Given the description of an element on the screen output the (x, y) to click on. 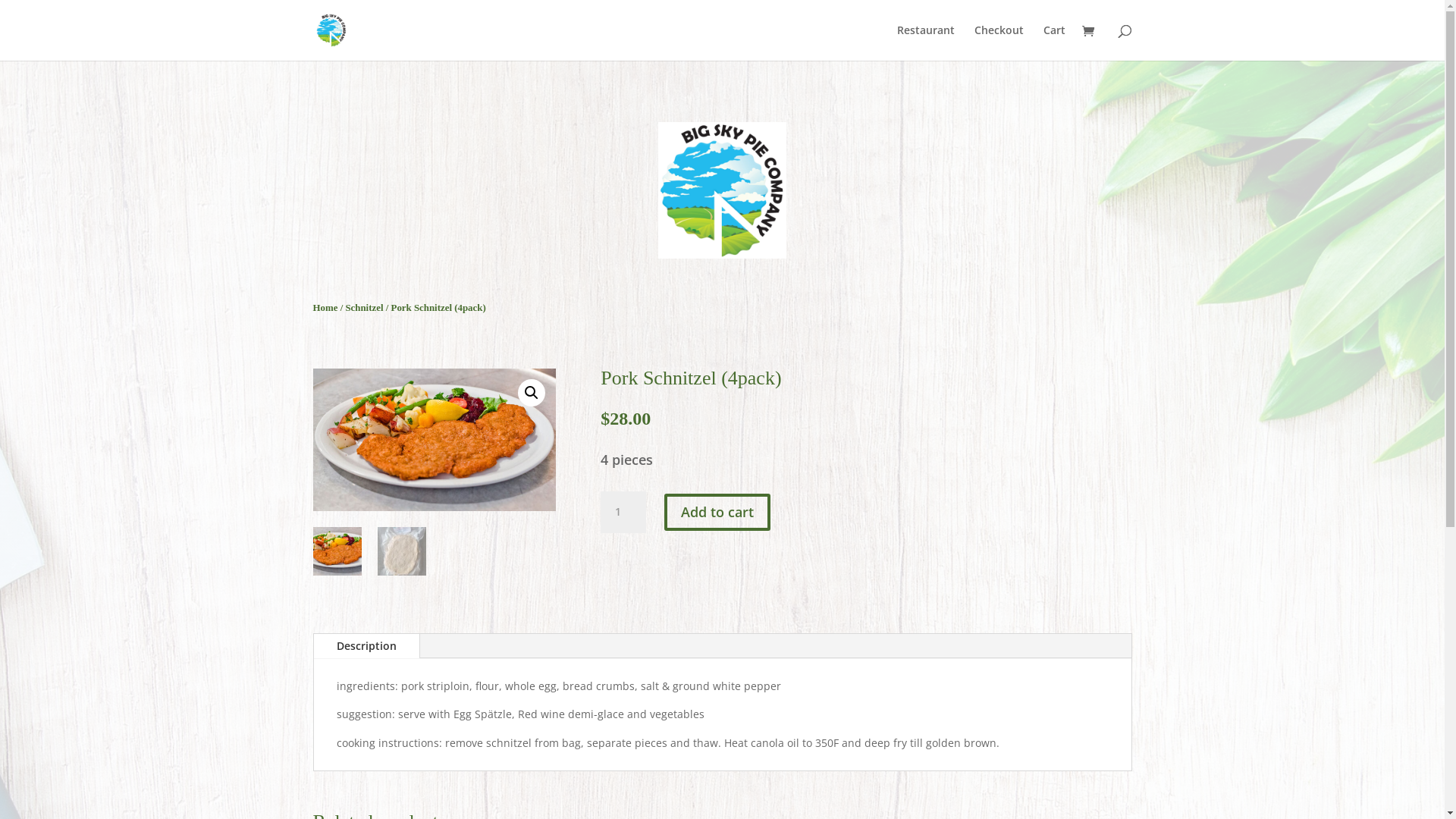
BSP logo Element type: hover (721, 190)
Restaurant Element type: text (924, 42)
Qty Element type: hover (623, 511)
Pork Schnitzel Element type: hover (433, 439)
Description Element type: text (366, 645)
Checkout Element type: text (997, 42)
Home Element type: text (324, 307)
Add to cart Element type: text (717, 511)
Schnitzel Element type: text (363, 307)
Cart Element type: text (1054, 42)
